Given the description of an element on the screen output the (x, y) to click on. 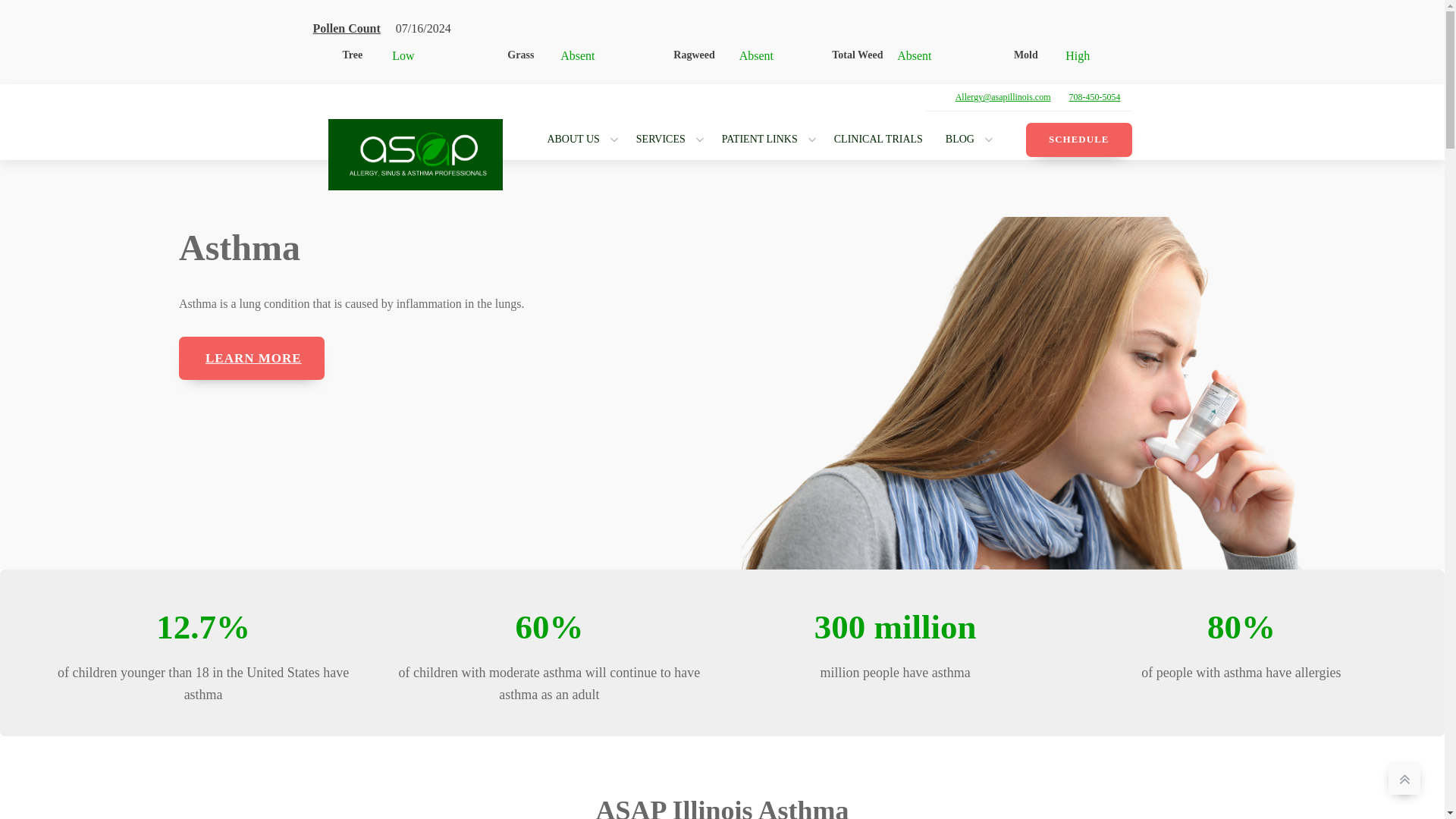
708-450-5054 (1094, 97)
SCHEDULE (1079, 139)
LEARN MORE (251, 358)
CLINICAL TRIALS (882, 139)
